Given the description of an element on the screen output the (x, y) to click on. 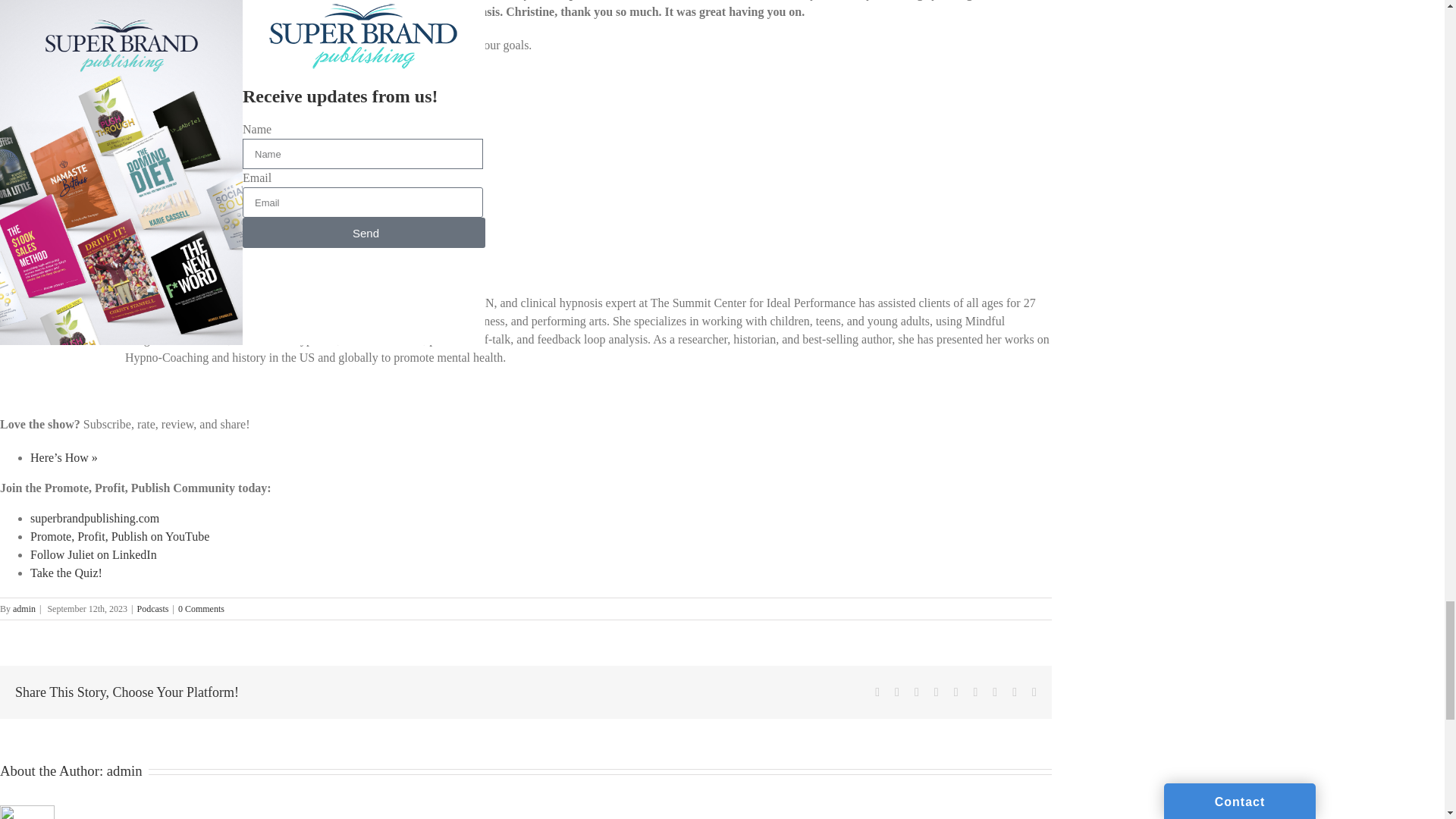
Posts by admin (124, 770)
Take the Quiz! (65, 572)
Posts by admin (23, 608)
superbrandpublishing.com (94, 517)
Winning Ways for Wrestlers (98, 201)
Promote, Profit, Publish on YouTube (119, 535)
Follow Juliet on LinkedIn (93, 554)
admin (23, 608)
Wrestling Through Adversity (99, 182)
